Given the description of an element on the screen output the (x, y) to click on. 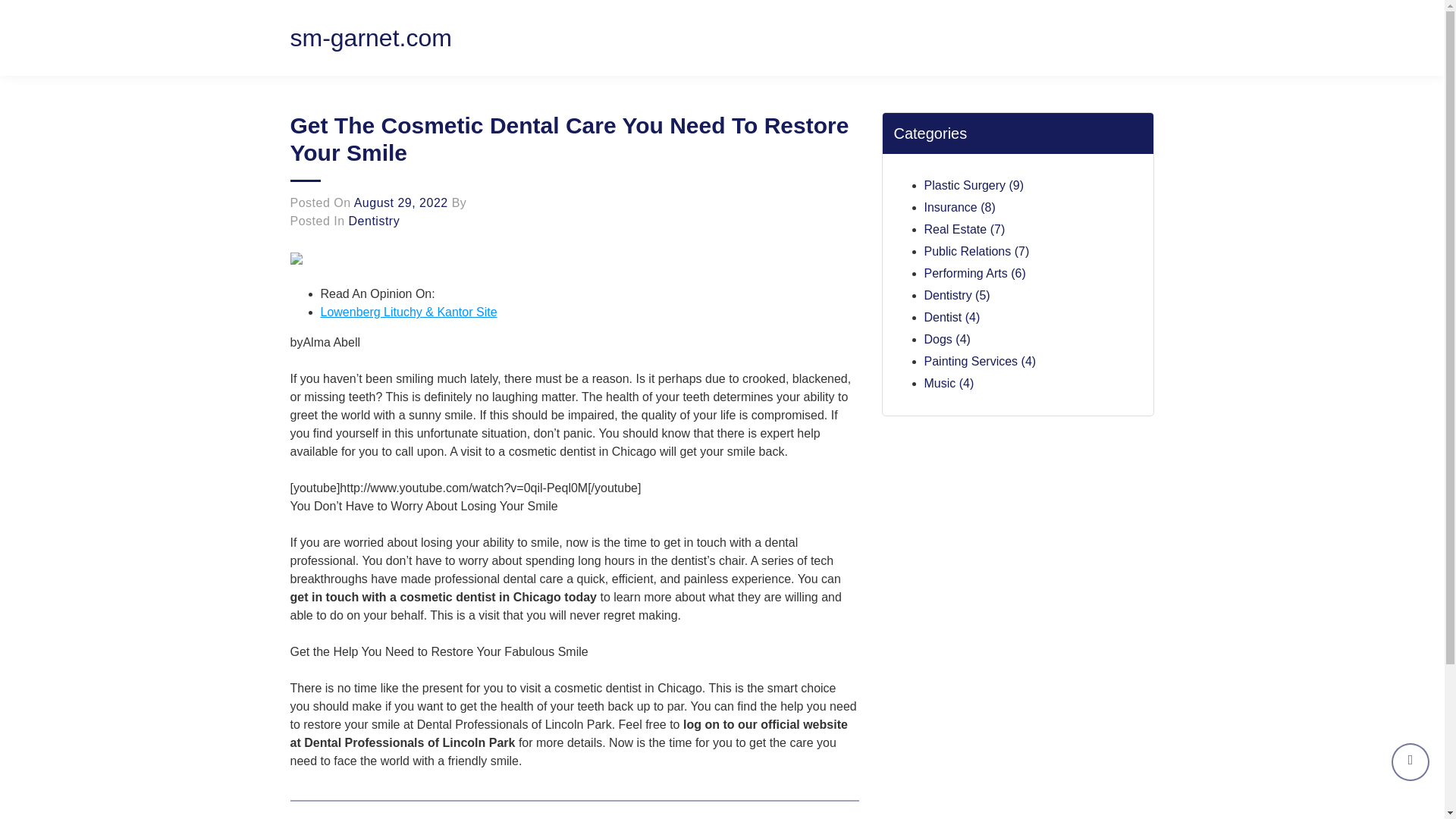
August 29, 2022 (400, 202)
Dentistry (374, 220)
sm-garnet.com (370, 37)
